Given the description of an element on the screen output the (x, y) to click on. 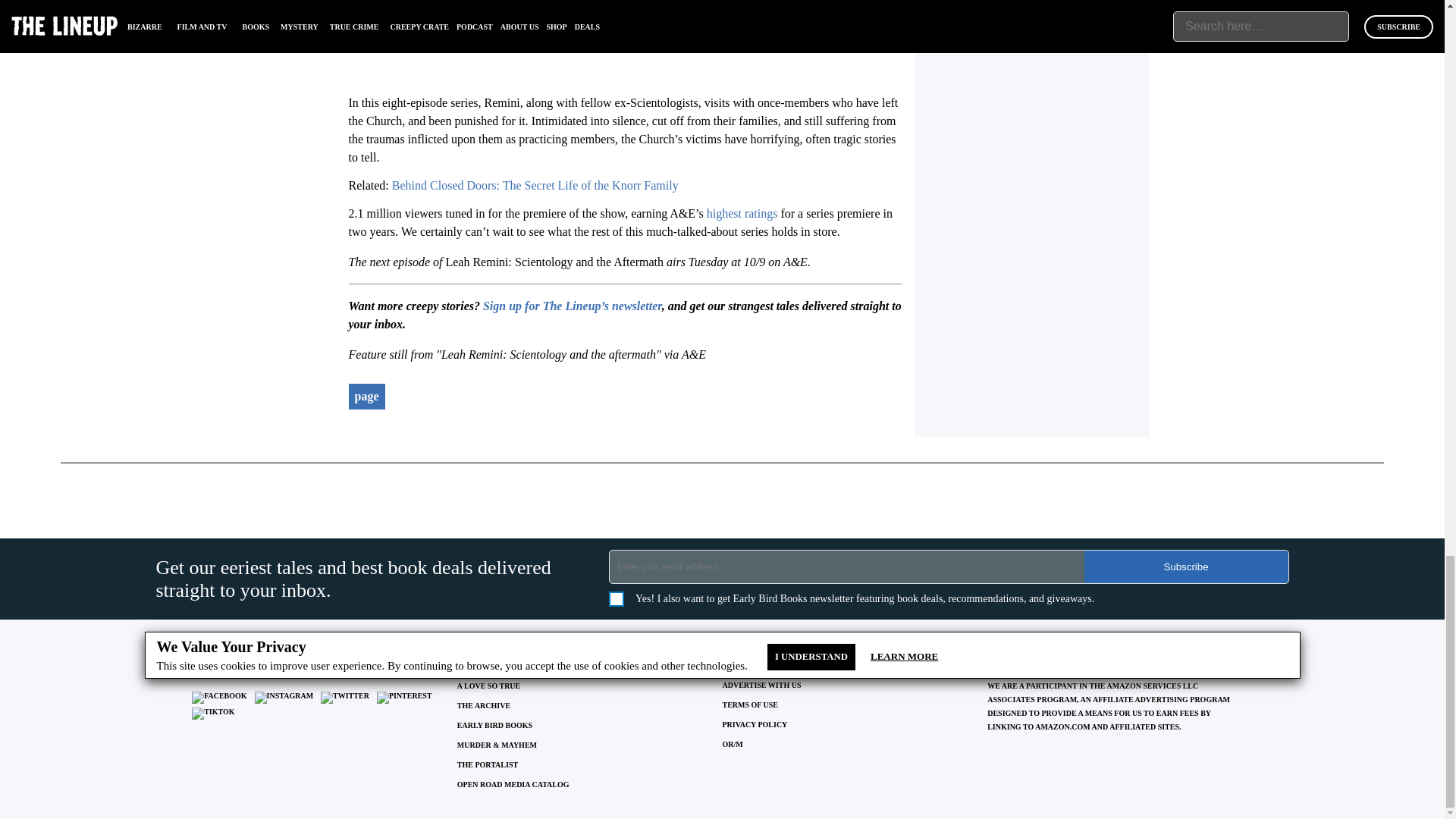
Facebook (219, 697)
Pinterest (404, 697)
Instagram (283, 697)
Twitter (344, 697)
TikTok (213, 713)
